Given the description of an element on the screen output the (x, y) to click on. 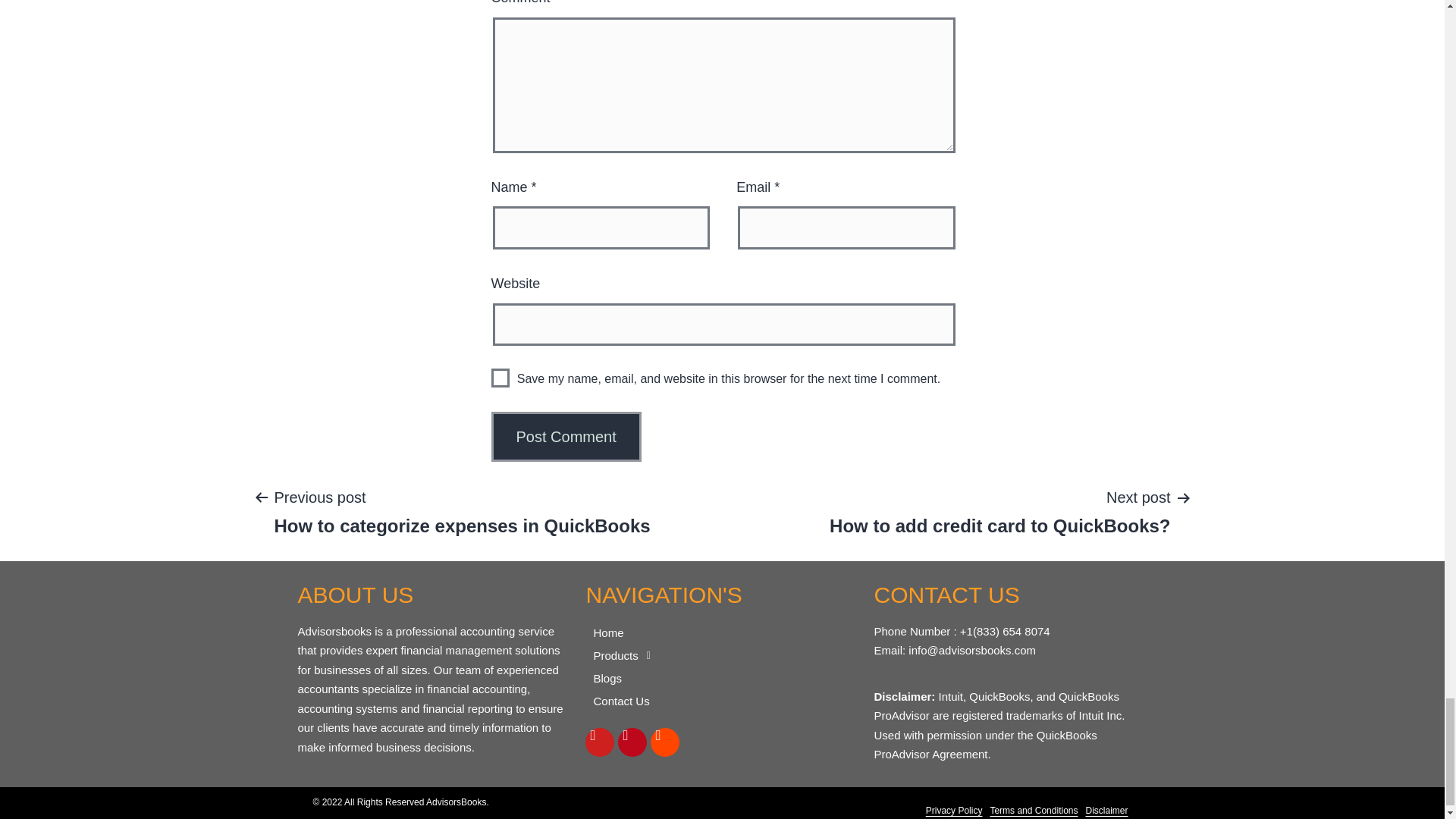
Blogs (722, 678)
yes (500, 377)
Post Comment (567, 436)
Products (722, 655)
Contact Us (1000, 510)
Home (722, 701)
Post Comment (461, 510)
